Given the description of an element on the screen output the (x, y) to click on. 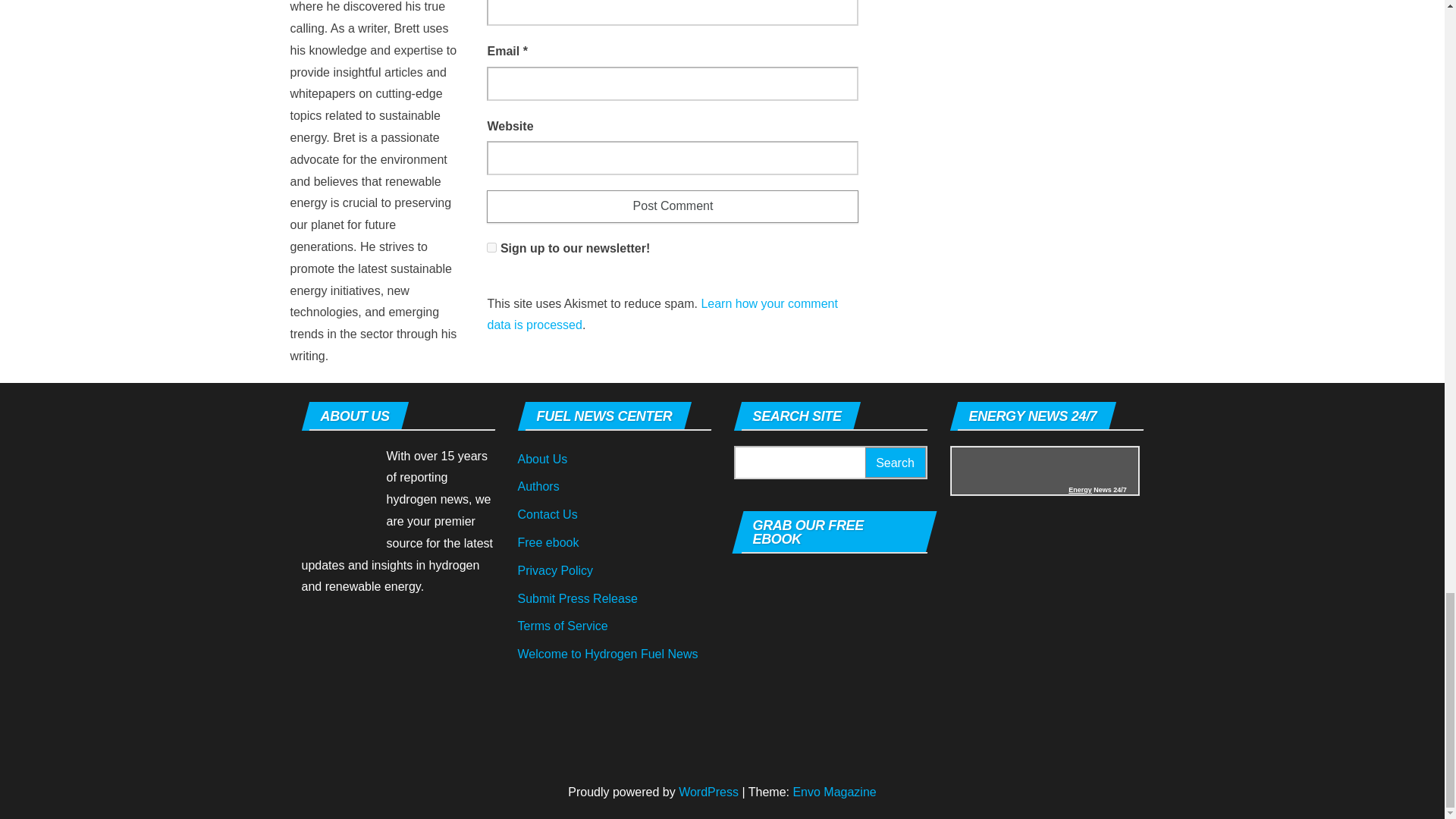
Search (894, 462)
Post Comment (672, 206)
1 (491, 247)
